Given the description of an element on the screen output the (x, y) to click on. 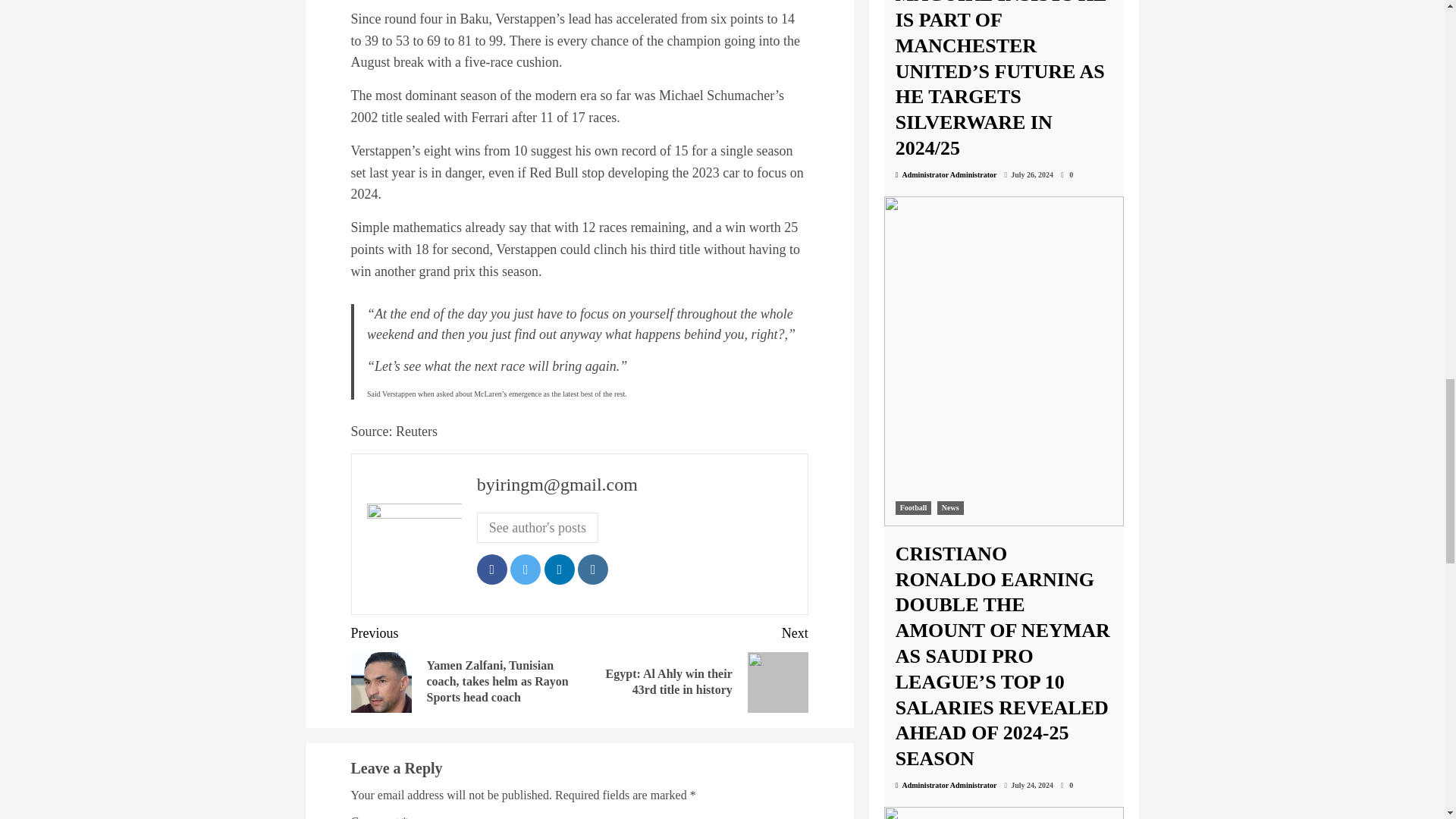
See author's posts (537, 527)
